Given the description of an element on the screen output the (x, y) to click on. 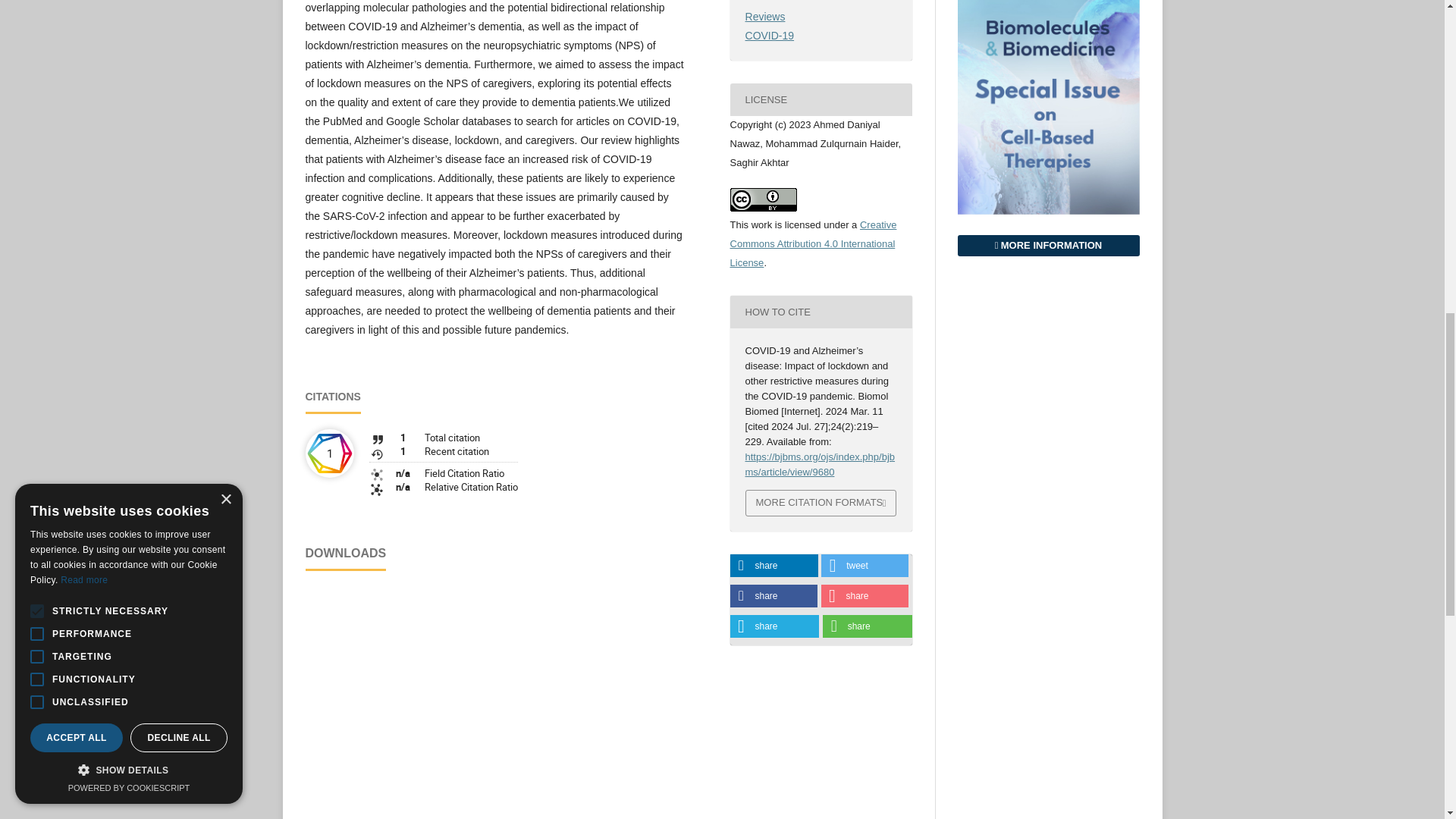
Share on Twitter (864, 565)
Share on LinkedIn (772, 565)
Share on Facebook (772, 595)
Share on weibo (864, 595)
Share on tencent weibo (773, 626)
Share on Whatsapp (867, 626)
